Given the description of an element on the screen output the (x, y) to click on. 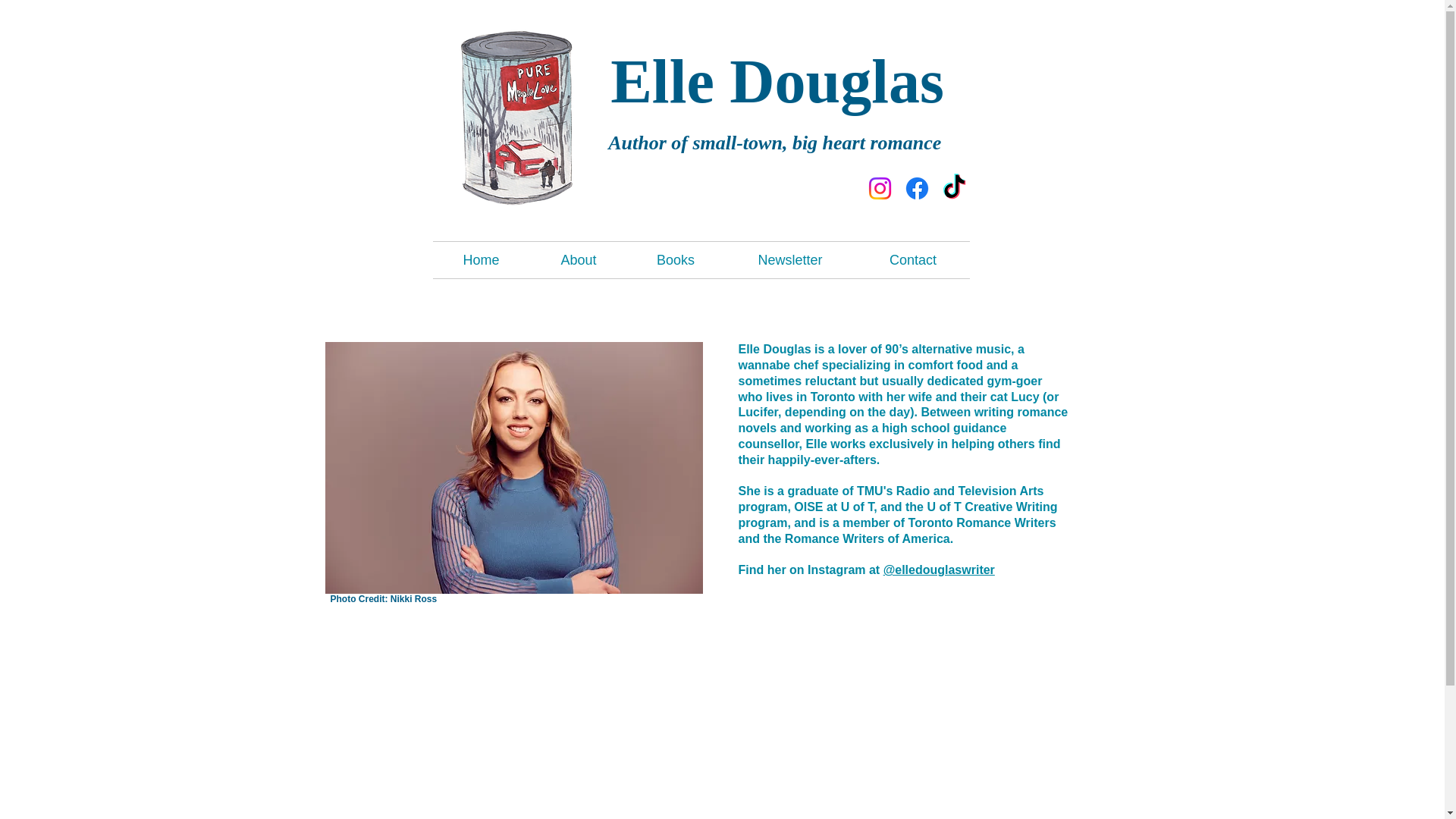
About (578, 259)
Newsletter (789, 259)
Elle Douglas (776, 81)
Contact (913, 259)
Home (480, 259)
Books (675, 259)
